Given the description of an element on the screen output the (x, y) to click on. 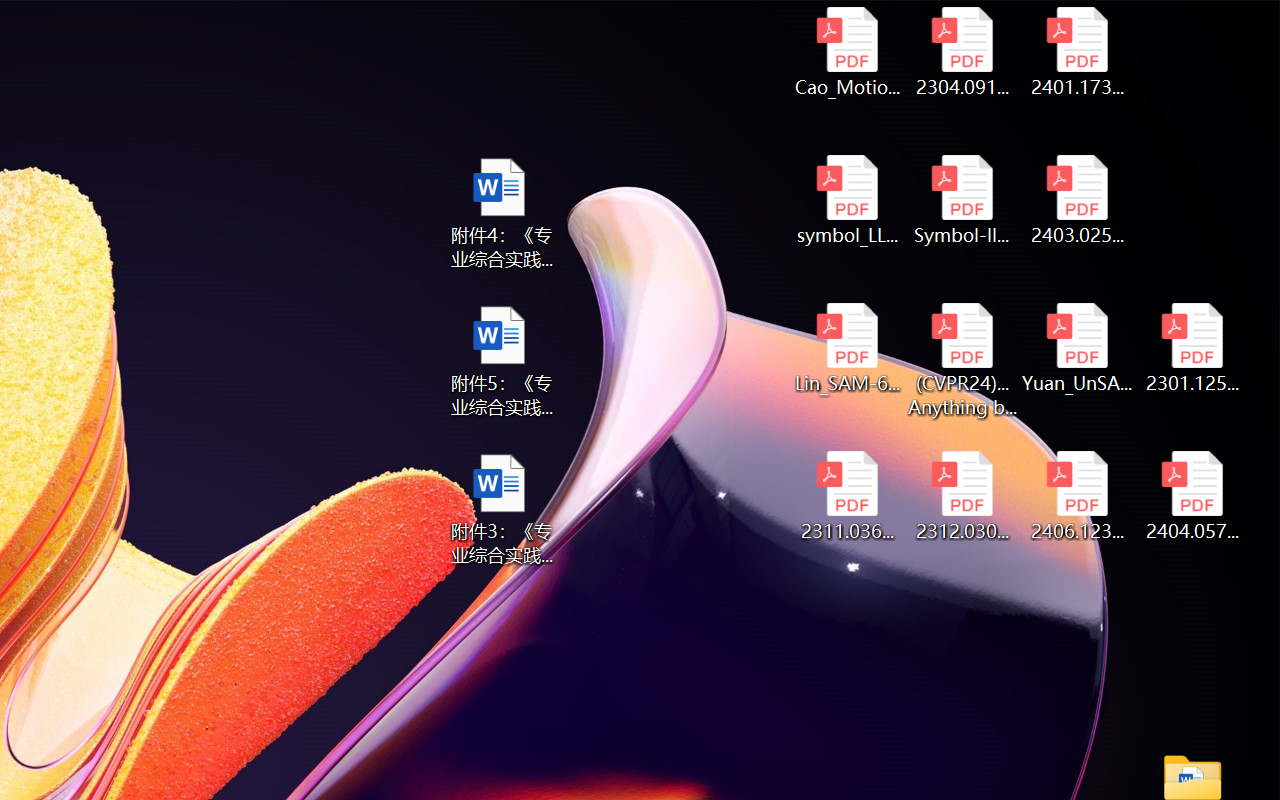
2301.12597v3.pdf (1192, 348)
2311.03658v2.pdf (846, 496)
